Given the description of an element on the screen output the (x, y) to click on. 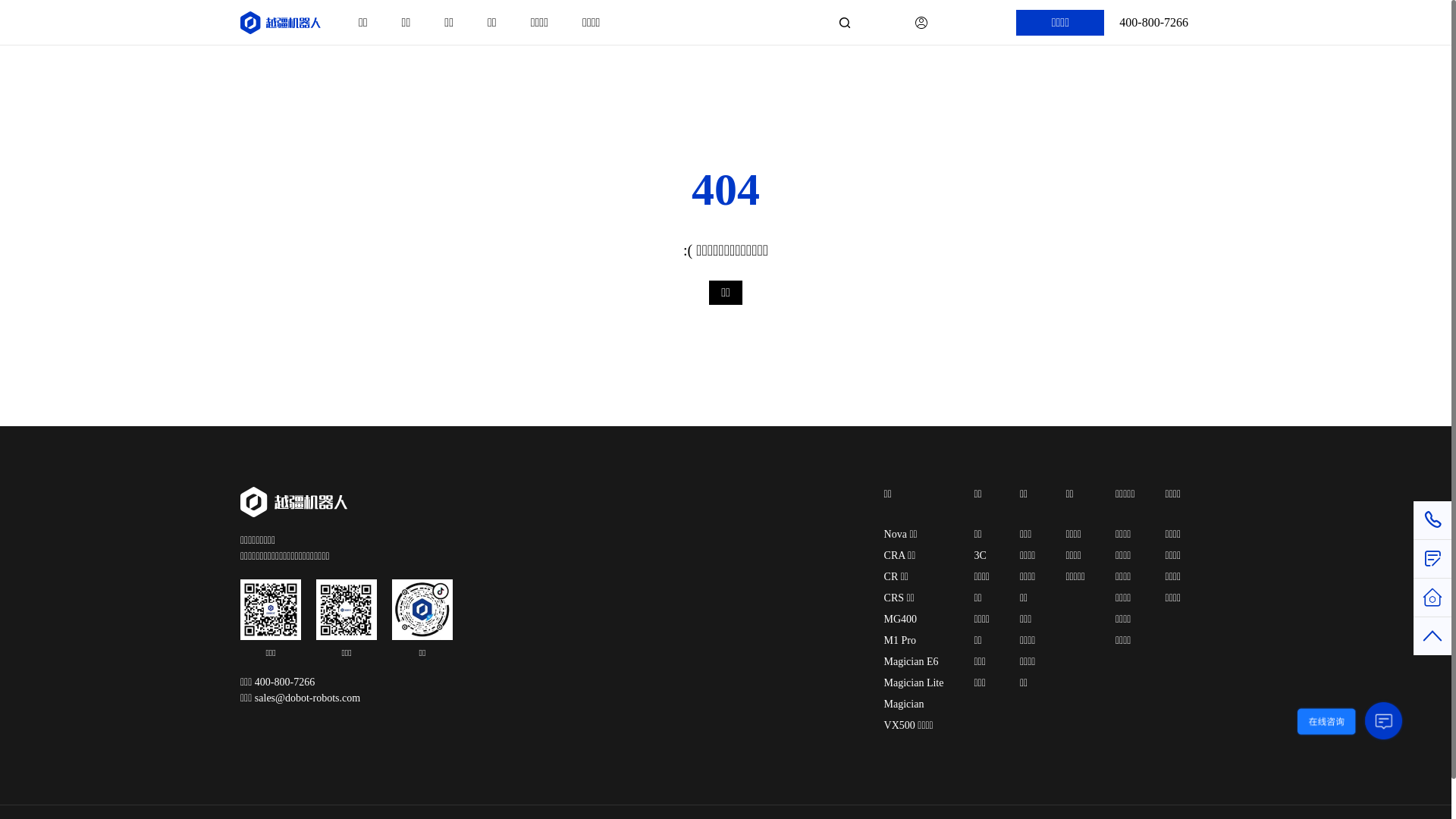
Magician Lite Element type: text (914, 682)
Magician E6 Element type: text (911, 661)
3C Element type: text (979, 555)
400-800-7266 Element type: text (1153, 22)
M1 Pro Element type: text (900, 640)
400-800-7266 Element type: text (1432, 520)
Magician Element type: text (904, 703)
MG400 Element type: text (900, 618)
